Given the description of an element on the screen output the (x, y) to click on. 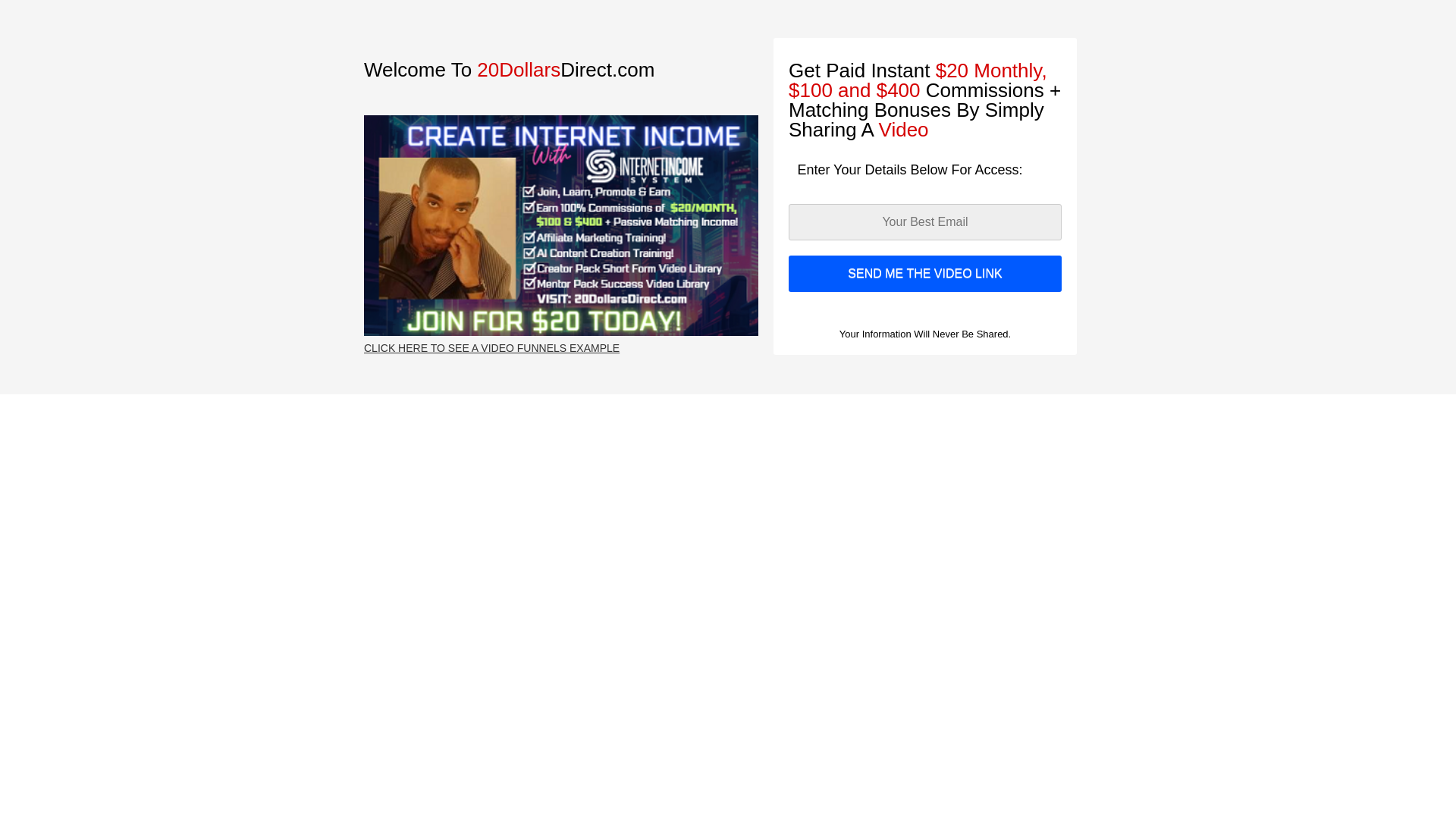
SEND ME THE VIDEO LINK Element type: text (924, 273)
CLICK HERE TO SEE A VIDEO FUNNELS EXAMPLE Element type: text (491, 348)
